Given the description of an element on the screen output the (x, y) to click on. 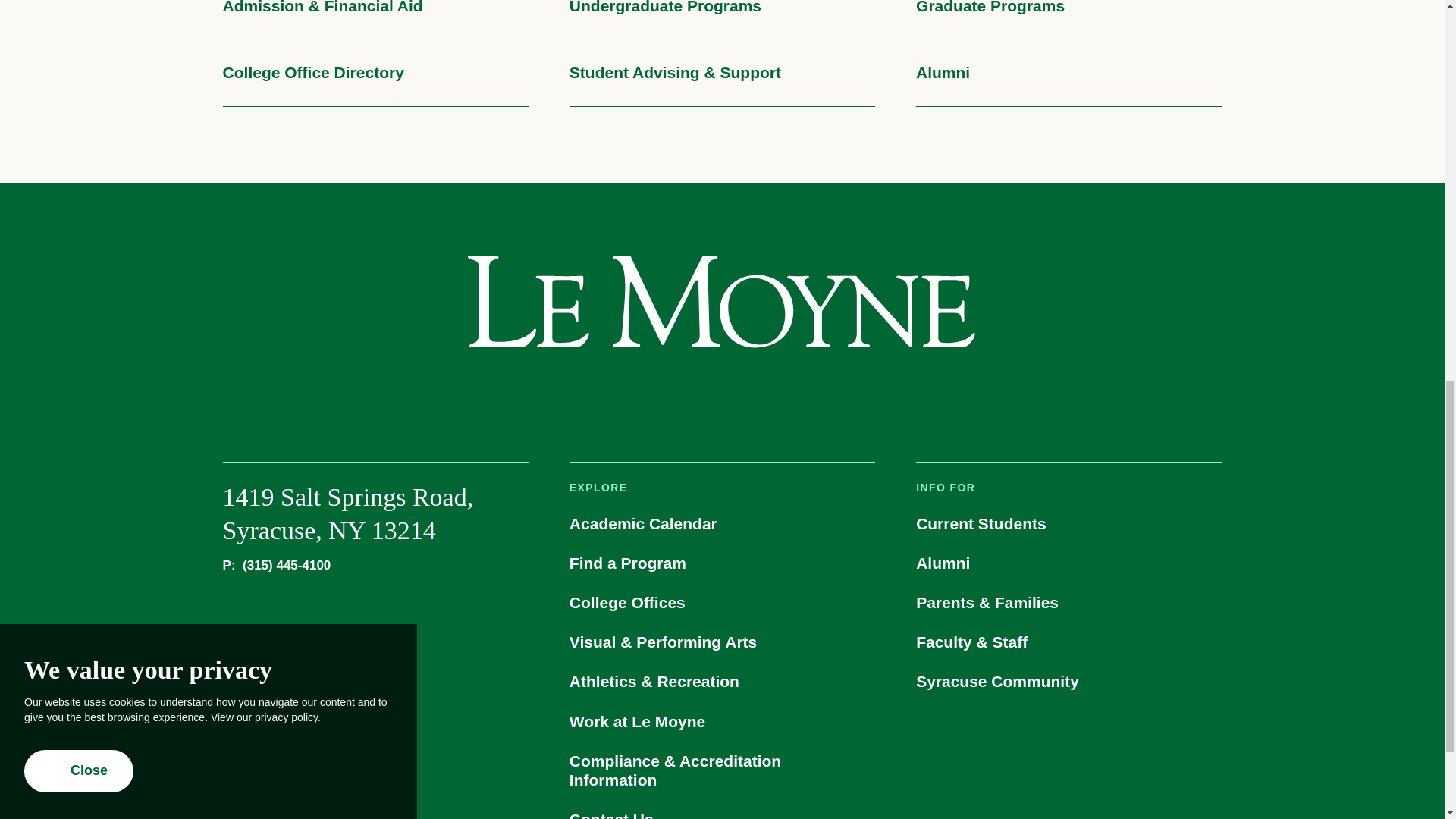
Current Students (1068, 523)
Graduate Programs (1068, 19)
Find a Program (722, 562)
Twitter (678, 397)
Opens in a new tab (678, 397)
Opens in a new tab (807, 397)
Academic Calendar (722, 523)
Alumni (1068, 72)
Opens in a new tab (637, 397)
Undergraduate Programs (722, 19)
Opens in a new tab (719, 397)
College Office Directory (375, 72)
Le Moyne College (721, 301)
Contact Us (722, 810)
YouTube (763, 397)
